Given the description of an element on the screen output the (x, y) to click on. 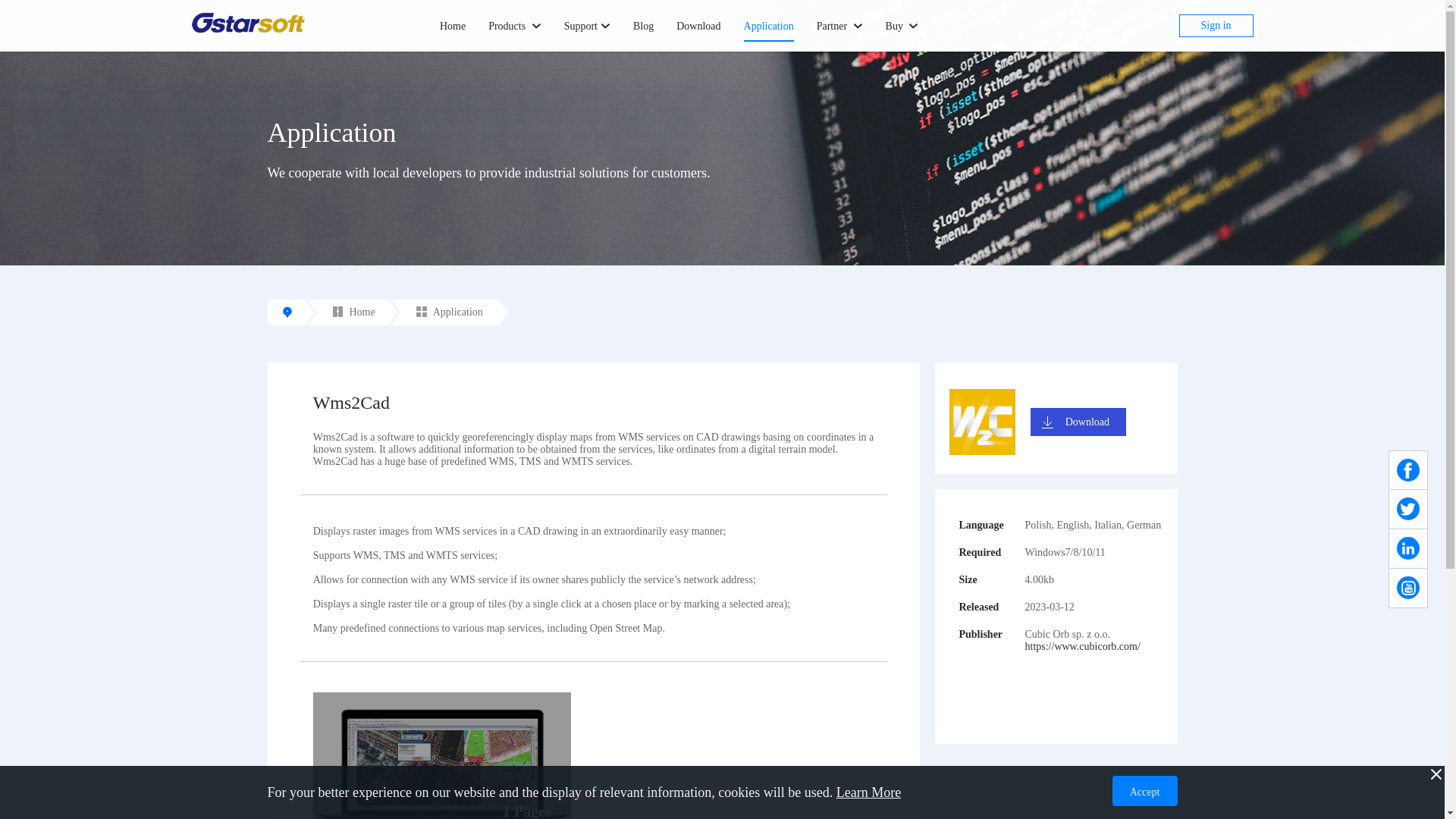
Application (768, 26)
Products (514, 26)
Partner (839, 26)
Sign in (1214, 25)
Support (587, 26)
CAD Software (247, 22)
Download (698, 26)
